Given the description of an element on the screen output the (x, y) to click on. 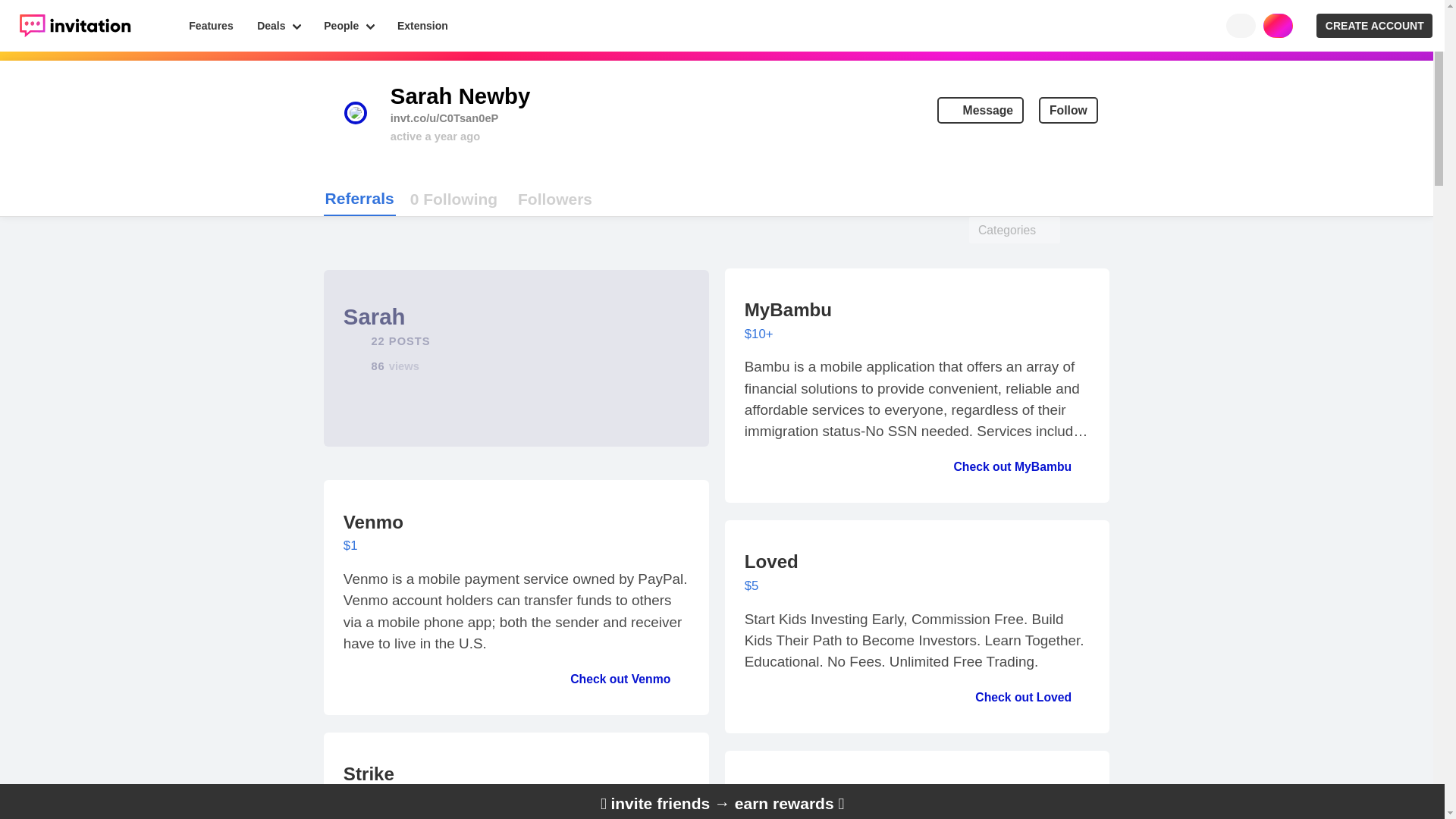
Message (980, 110)
People (349, 25)
Extension (422, 25)
Features (211, 25)
Referrals (359, 199)
Deals (277, 25)
CREATE ACCOUNT (1374, 25)
Follow (1068, 110)
